Given the description of an element on the screen output the (x, y) to click on. 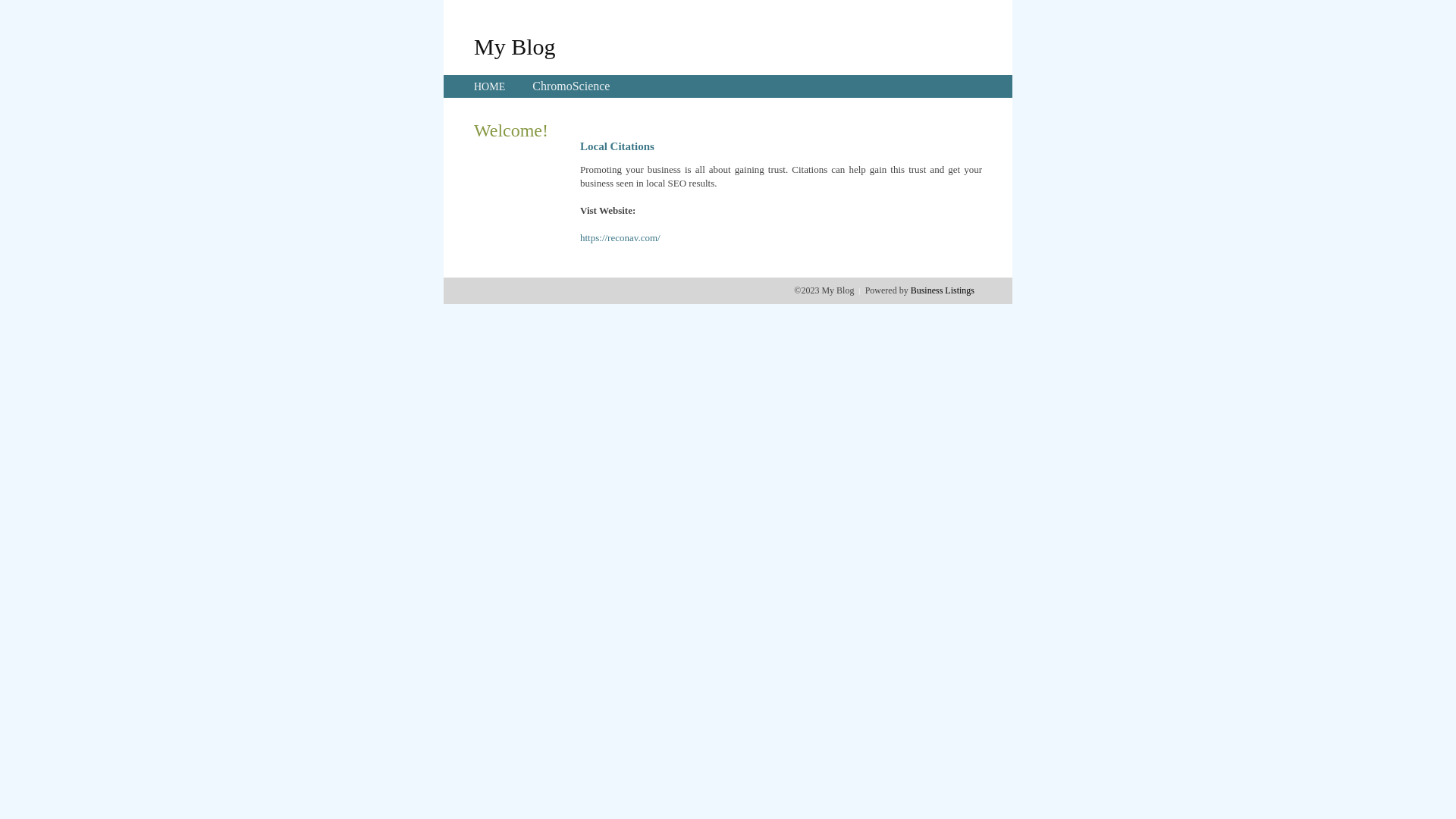
HOME Element type: text (489, 86)
My Blog Element type: text (514, 46)
Business Listings Element type: text (942, 290)
ChromoScience Element type: text (570, 85)
https://reconav.com/ Element type: text (620, 237)
